Given the description of an element on the screen output the (x, y) to click on. 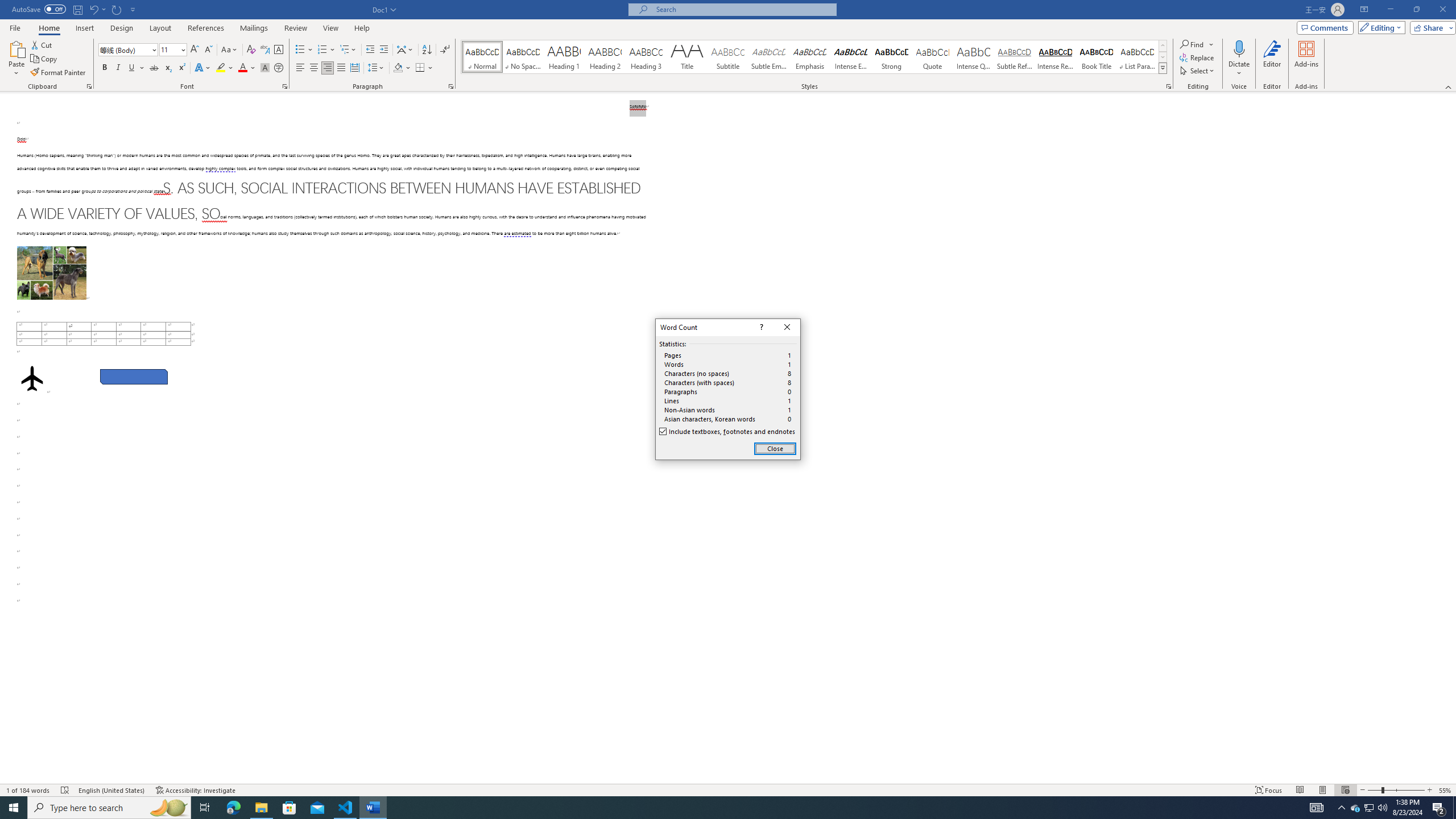
Rectangle: Diagonal Corners Snipped 2 (133, 376)
Subtle Emphasis (768, 56)
Heading 2 (605, 56)
Quote (932, 56)
